Given the description of an element on the screen output the (x, y) to click on. 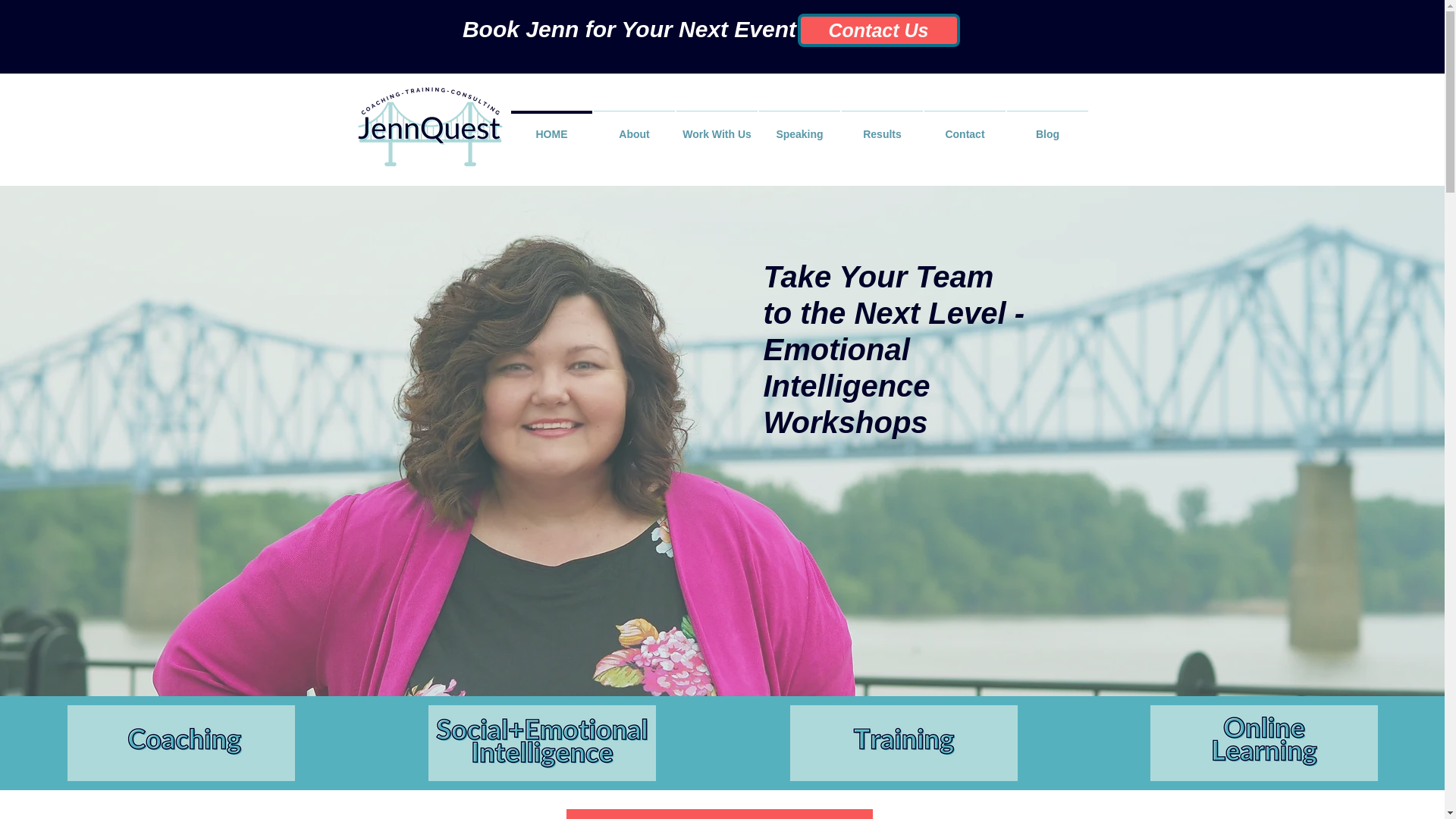
Blog (1047, 127)
Contact Us! (719, 814)
HOME (551, 127)
Results (882, 127)
Work With Us (716, 127)
Contact Us (878, 29)
Speaking (799, 127)
Contact (964, 127)
About (633, 127)
